Given the description of an element on the screen output the (x, y) to click on. 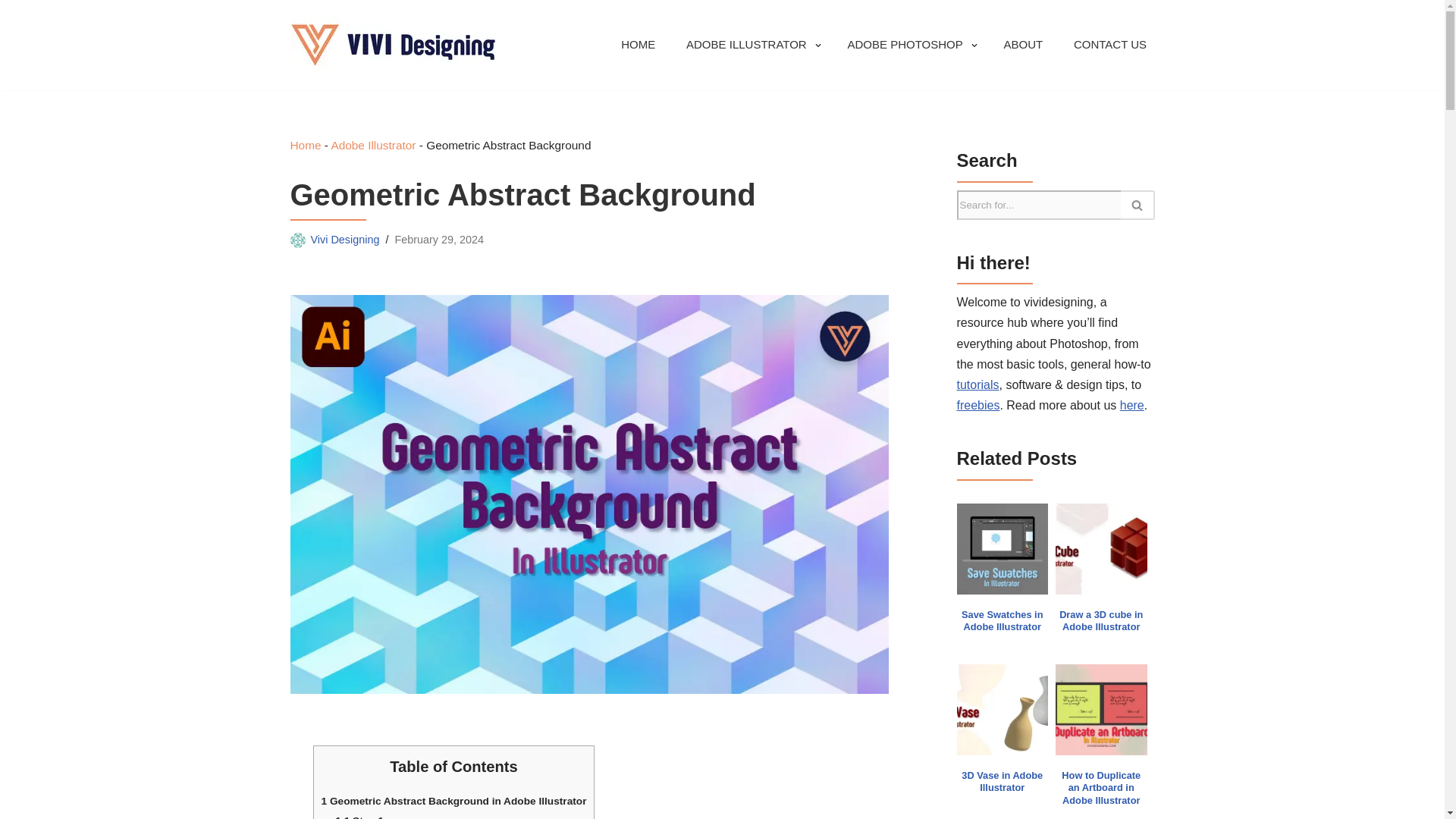
ADOBE ILLUSTRATOR (745, 45)
ABOUT (1022, 45)
Posts by Vivi Designing (345, 239)
Vivi Designing (345, 239)
Adobe Illustrator (372, 144)
Home (304, 144)
HOME (638, 45)
ADOBE PHOTOSHOP (905, 45)
1 Geometric Abstract Background in Adobe Illustrator (453, 800)
CONTACT US (1109, 45)
1.1 Step 1 (359, 816)
Skip to content (11, 31)
